Given the description of an element on the screen output the (x, y) to click on. 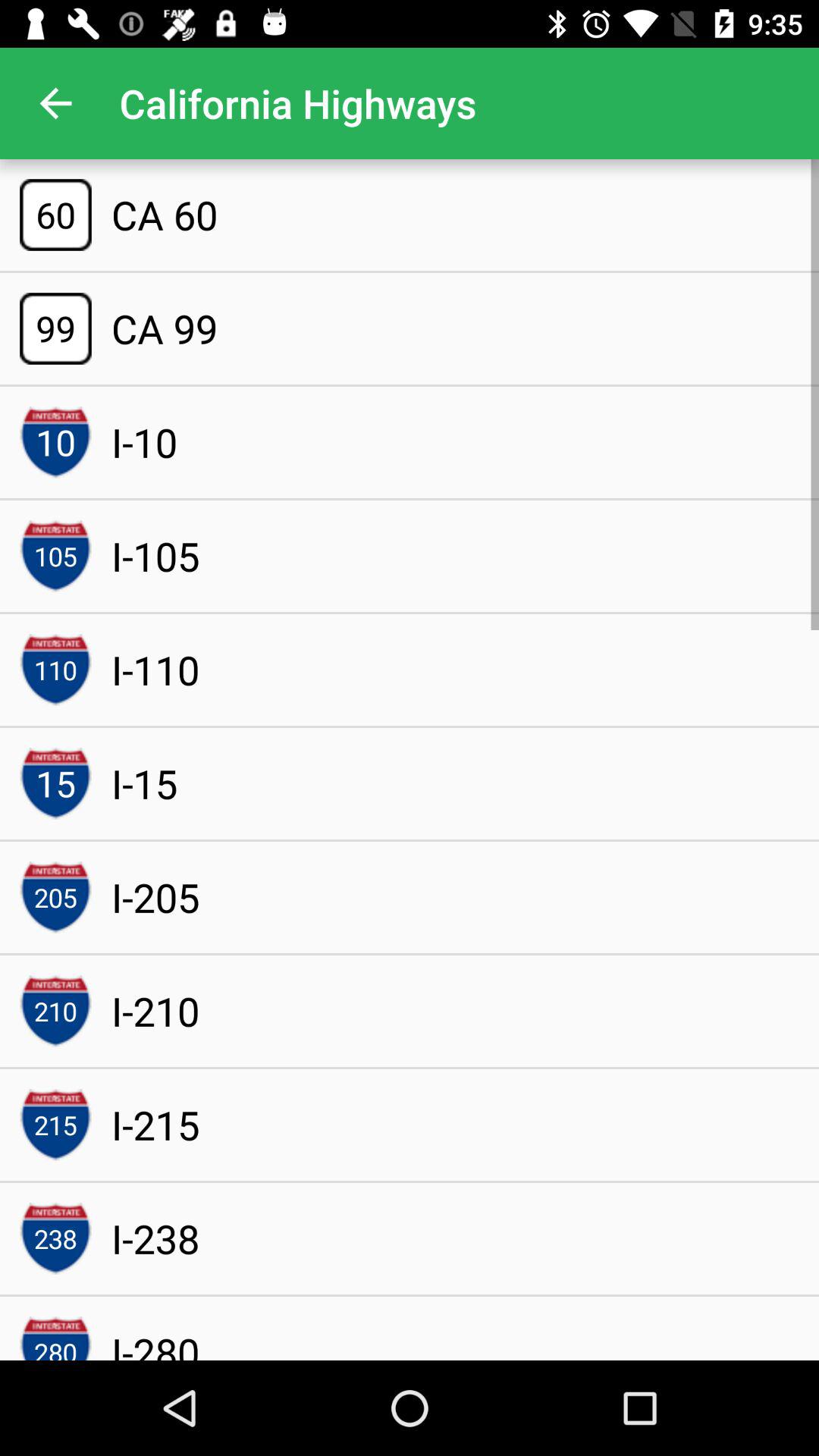
select the icon below i-215 (155, 1238)
